Given the description of an element on the screen output the (x, y) to click on. 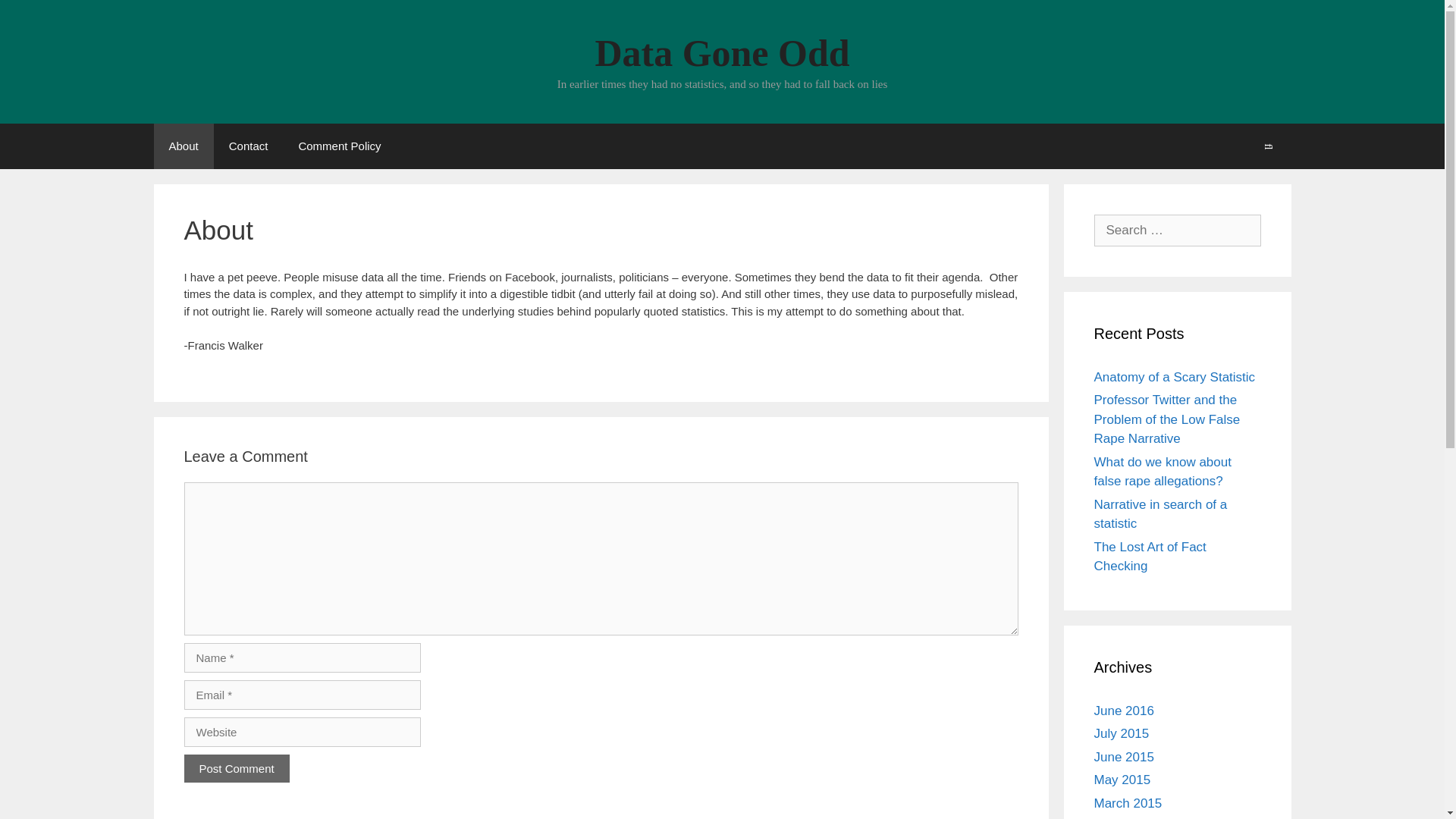
Narrative in search of a statistic (1160, 514)
About (182, 145)
The Lost Art of Fact Checking (1149, 556)
Comment Policy (339, 145)
June 2015 (1123, 756)
Post Comment (235, 767)
Search (1268, 145)
Search for: (1176, 229)
June 2016 (1123, 710)
Data Gone Odd (721, 52)
